Given the description of an element on the screen output the (x, y) to click on. 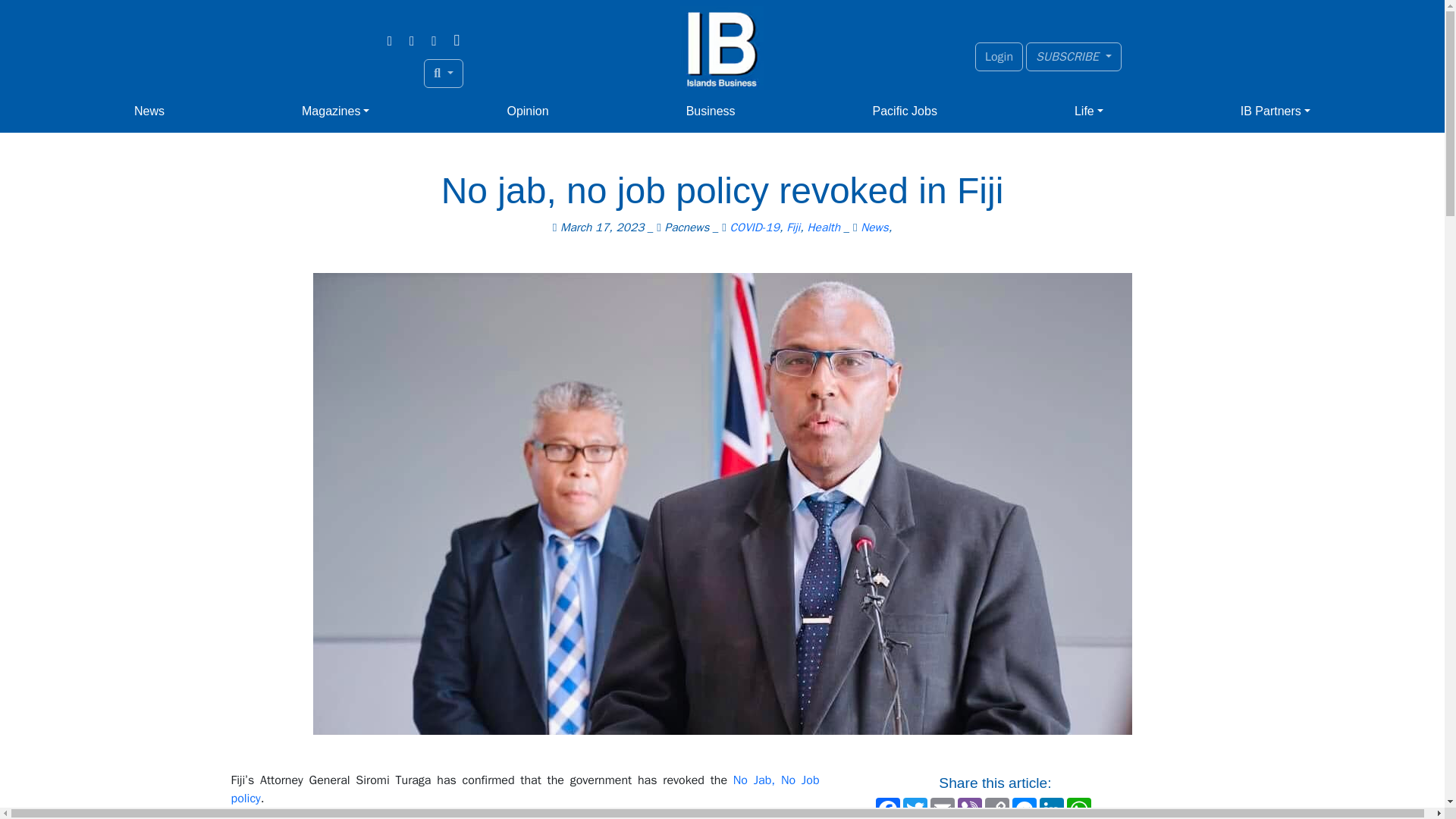
Login (999, 56)
SUBSCRIBE (1073, 56)
Magazines (335, 111)
Life (1088, 111)
Business (710, 111)
IB Partners (1275, 111)
Opinion (527, 111)
Pacific Jobs (904, 111)
News (149, 111)
Login (999, 56)
